Given the description of an element on the screen output the (x, y) to click on. 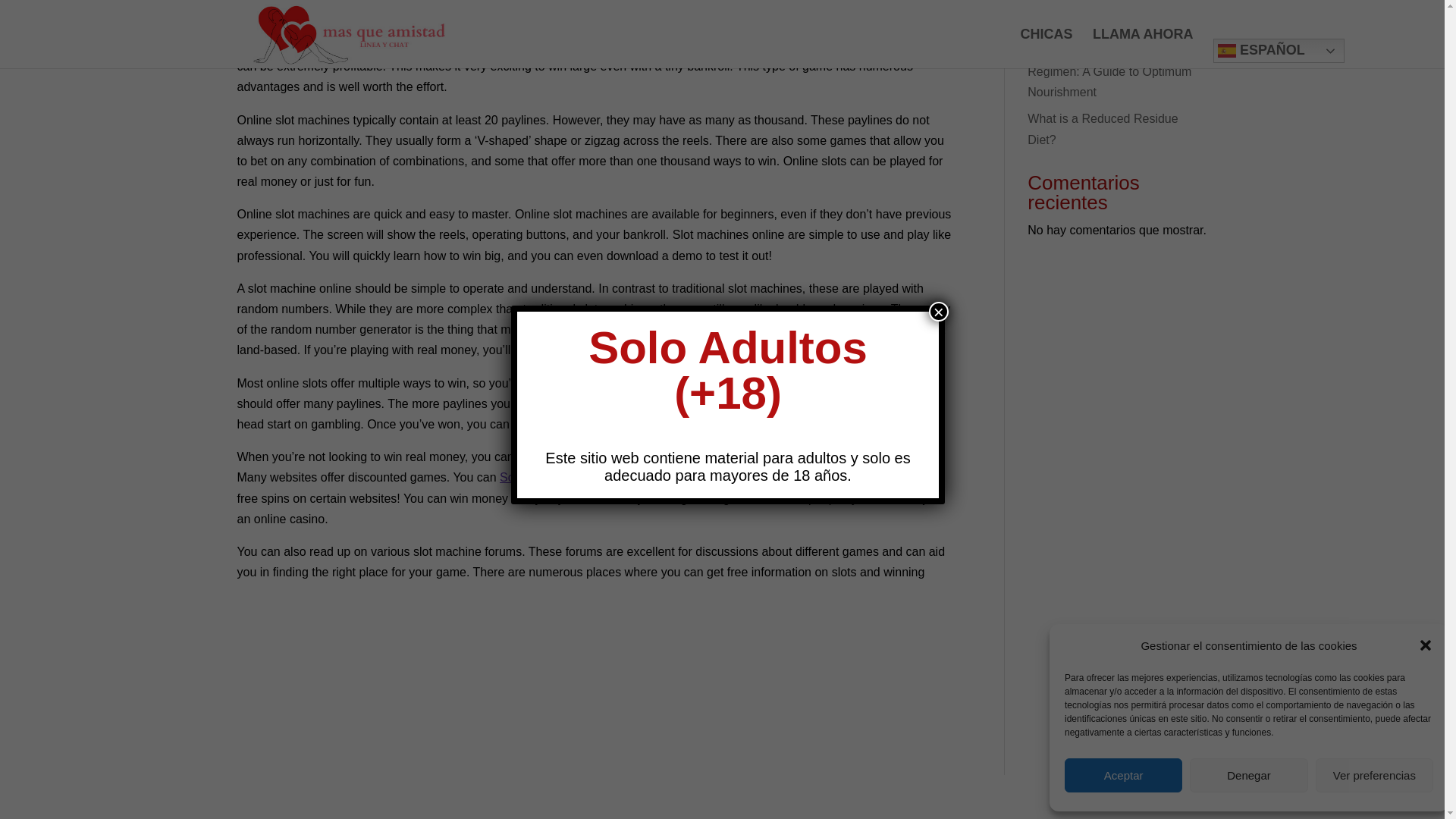
Just How to Swallow Tablets: A Comprehensive Guide (1110, 2)
Denegar (1248, 522)
866824511721444628 (1087, 24)
What is a Reduced Residue Diet? (1102, 128)
Aceptar (1123, 522)
Ver preferencias (1374, 522)
Solverde Casino (543, 477)
